Given the description of an element on the screen output the (x, y) to click on. 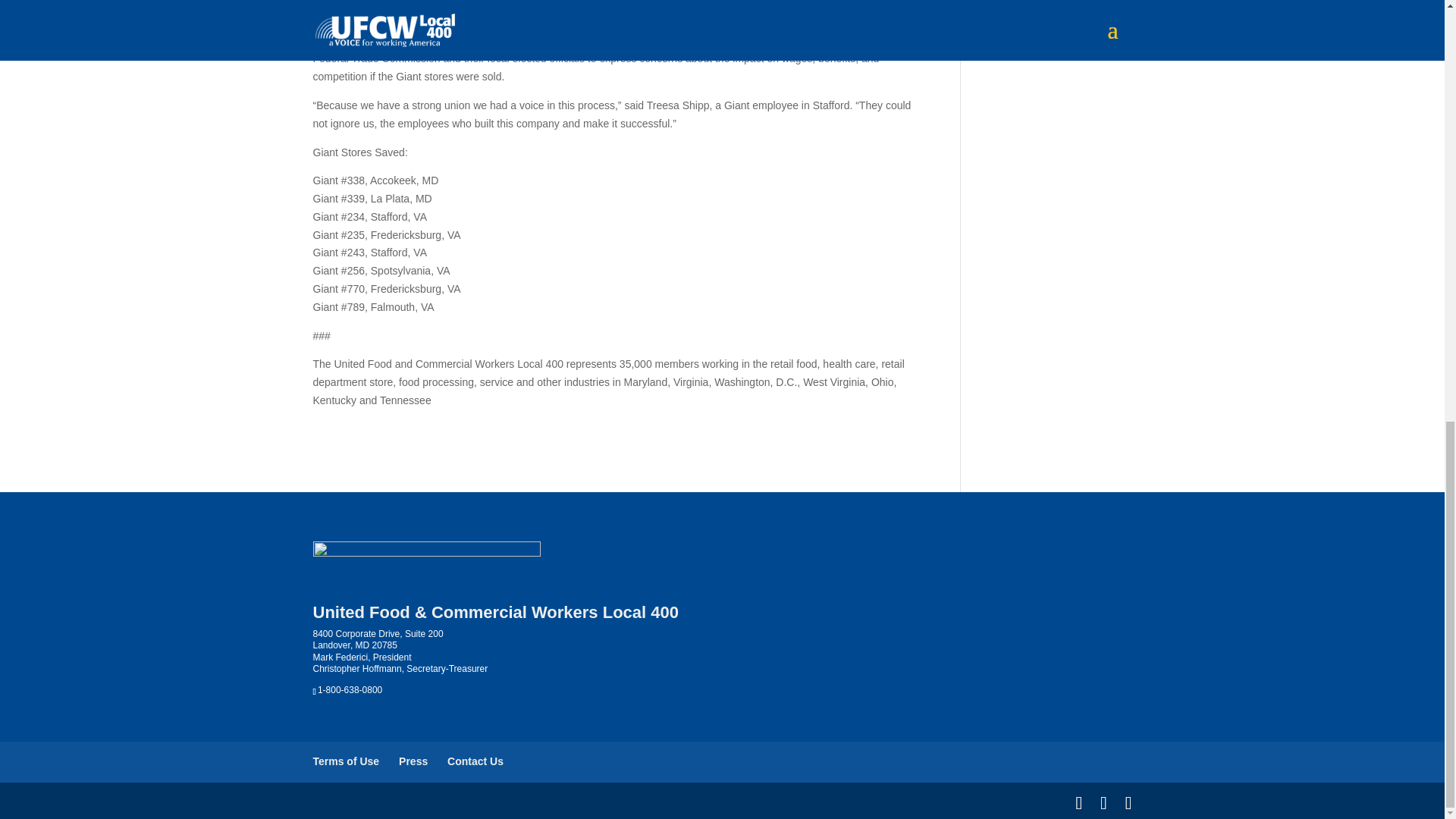
Terms of Use (345, 761)
Contact Us (474, 761)
Press (413, 761)
